Given the description of an element on the screen output the (x, y) to click on. 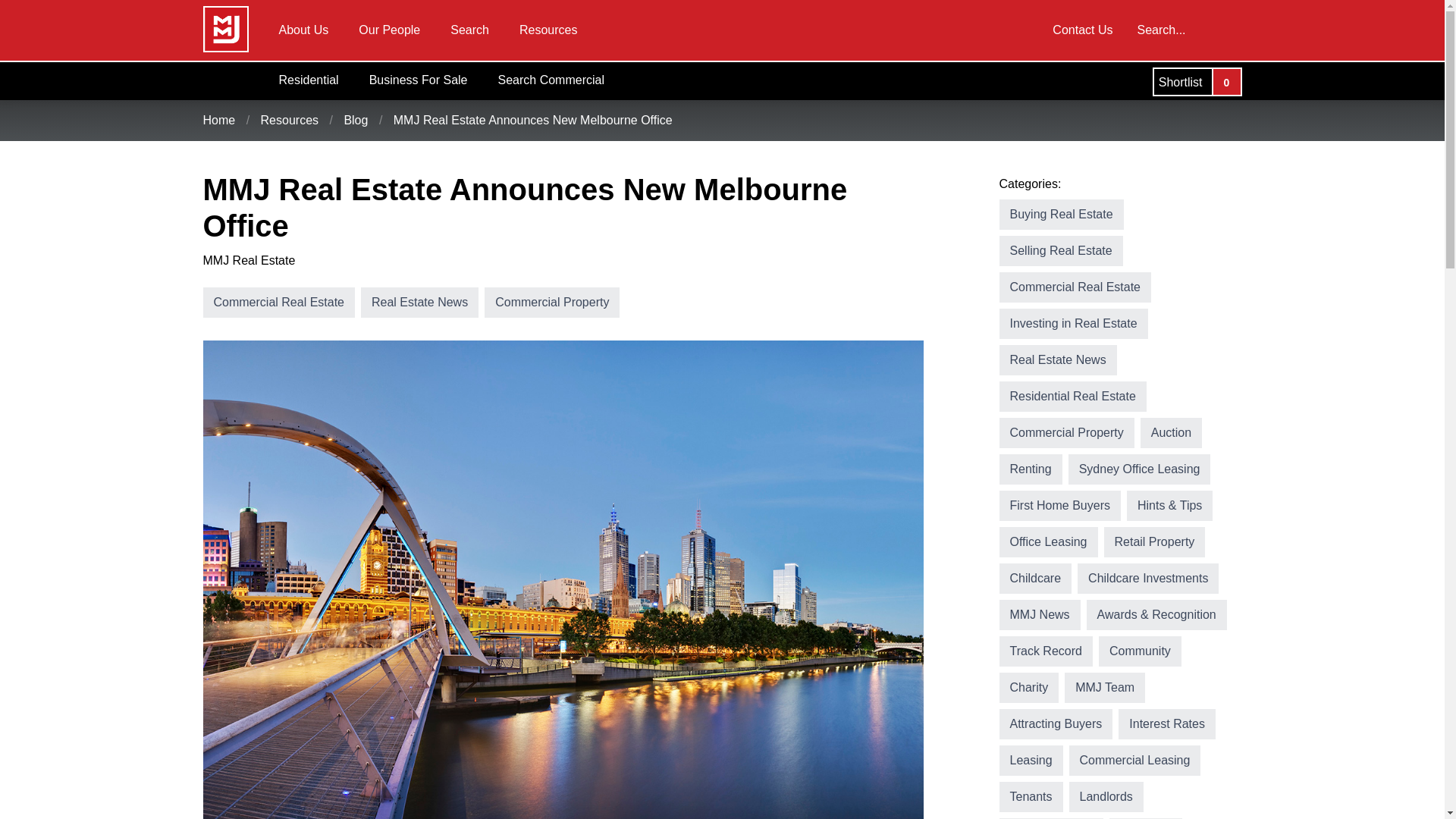
Search (469, 30)
About Us (303, 30)
Search (469, 30)
Our People (389, 30)
Our People (389, 30)
About Us (303, 30)
Resources (547, 30)
MMJ Real Estate (225, 28)
